Given the description of an element on the screen output the (x, y) to click on. 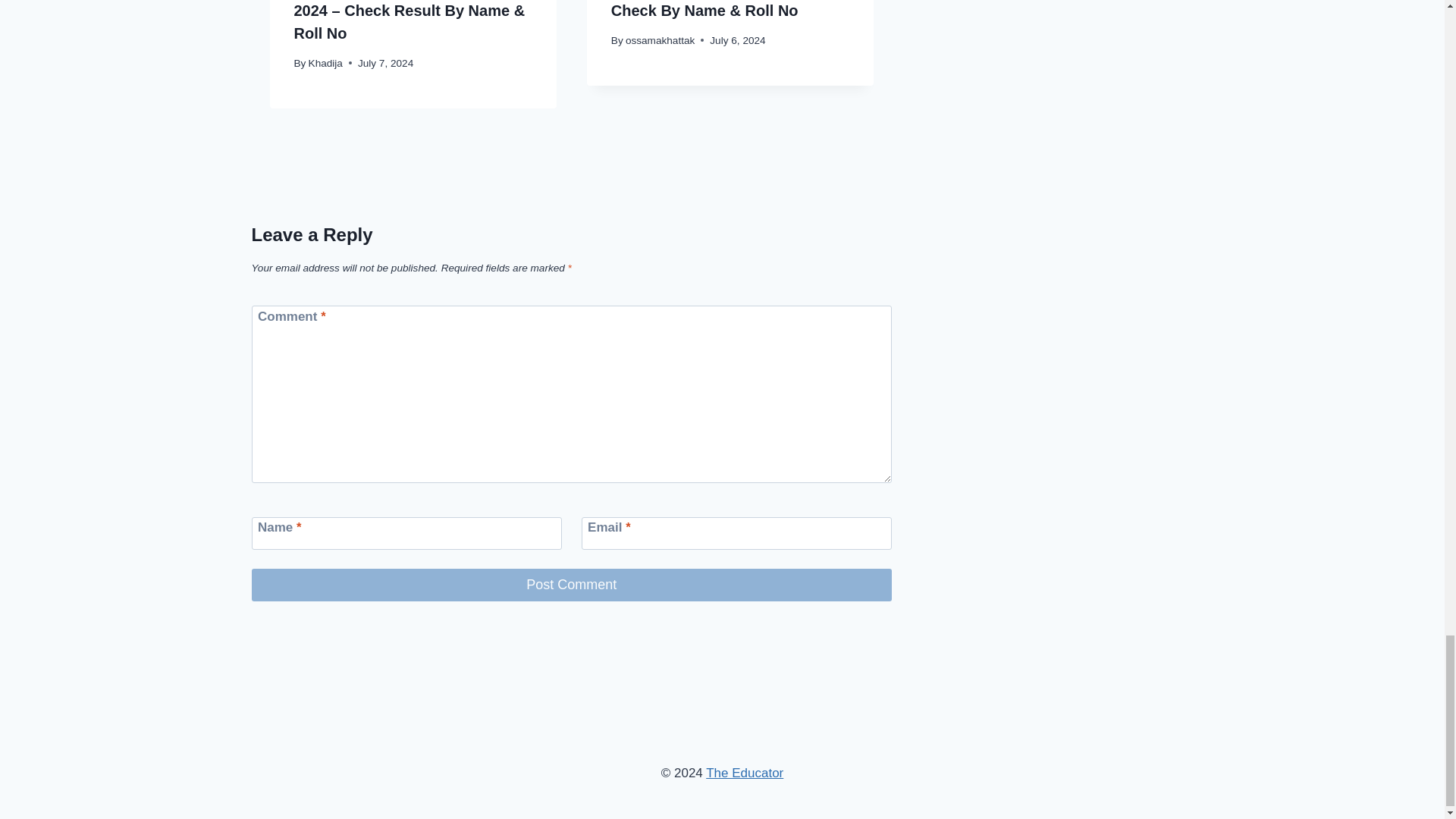
Post Comment (571, 584)
